Given the description of an element on the screen output the (x, y) to click on. 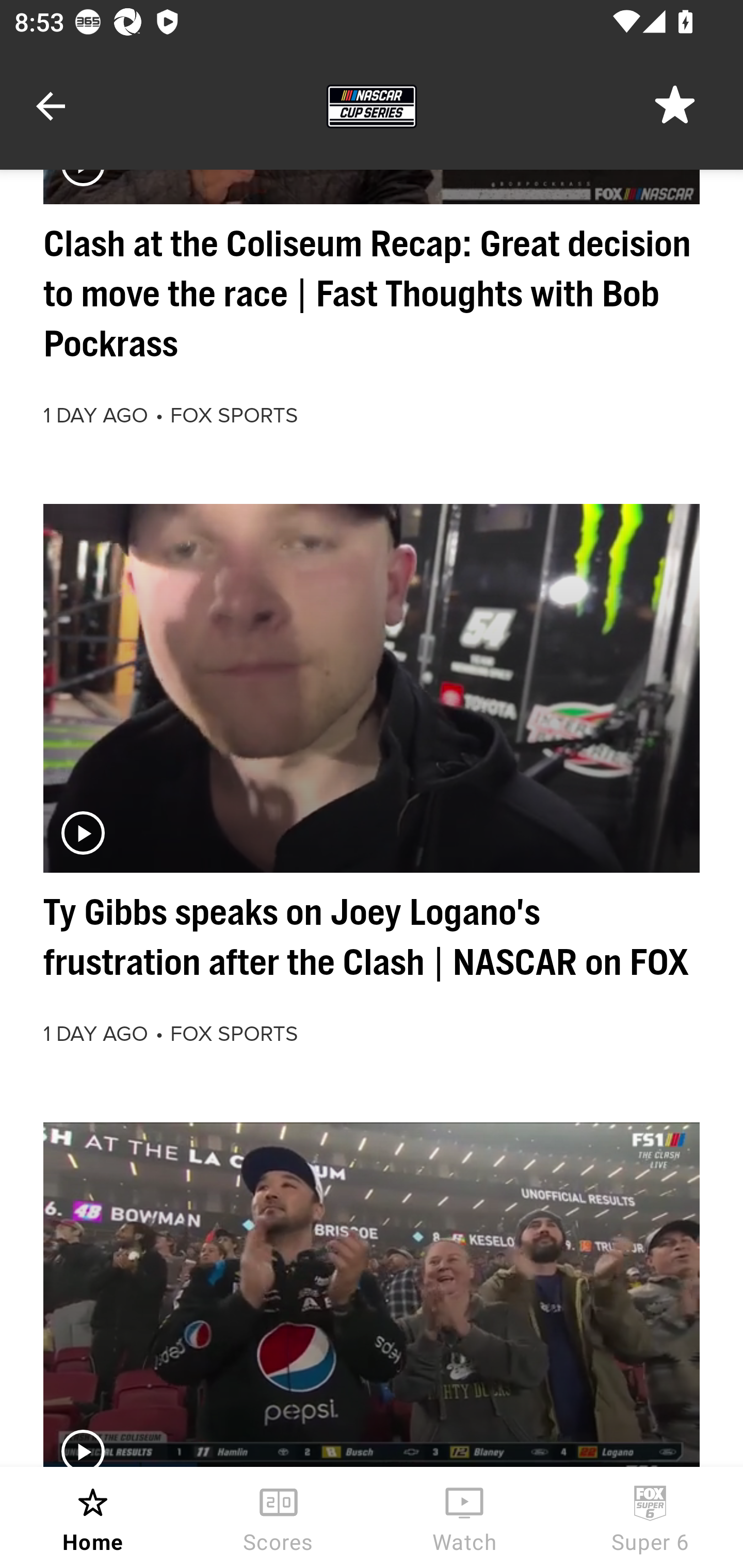
Navigate up (50, 106)
Scores (278, 1517)
Watch (464, 1517)
Super 6 (650, 1517)
